Given the description of an element on the screen output the (x, y) to click on. 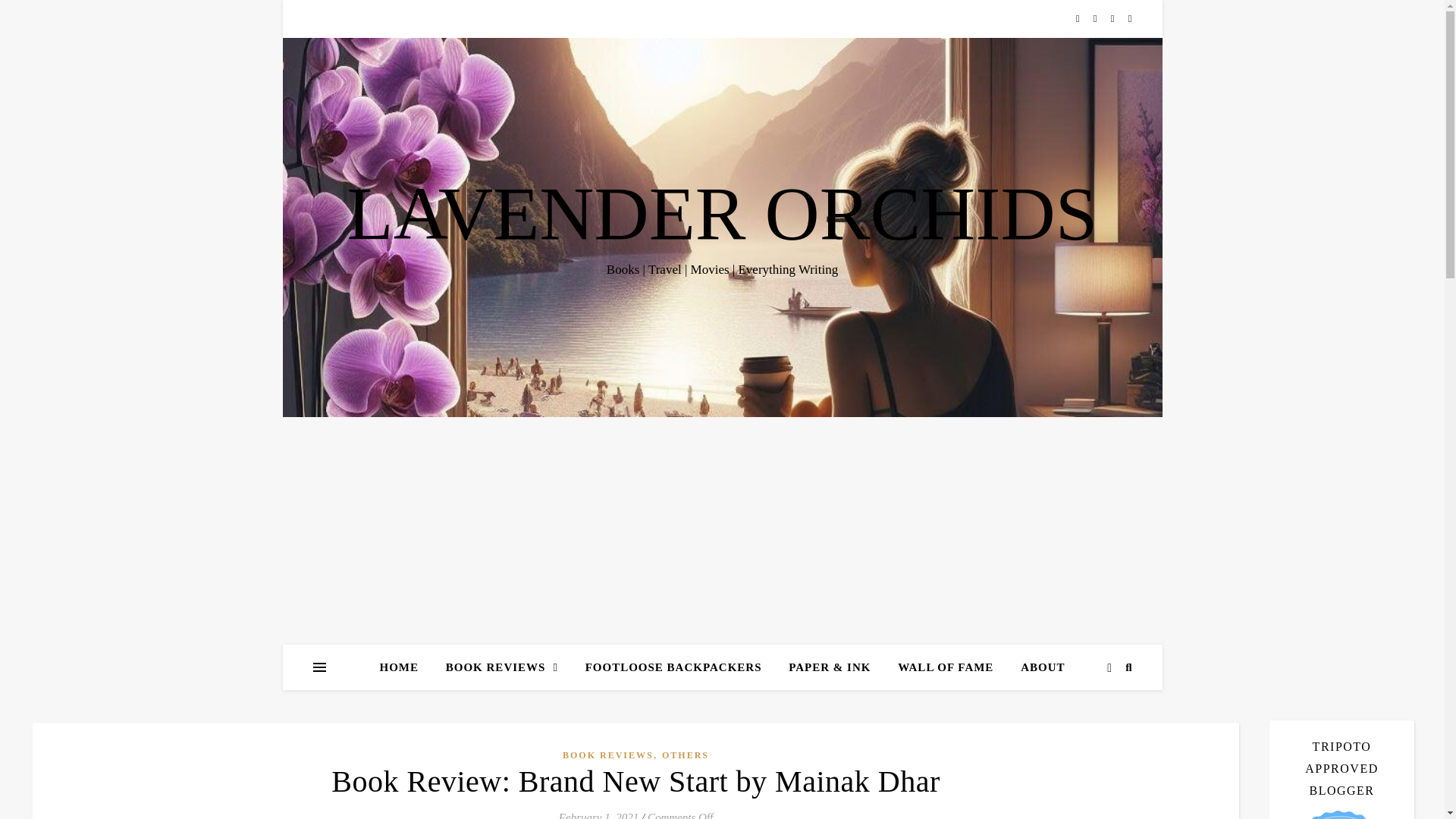
WALL OF FAME (945, 667)
HOME (405, 667)
FOOTLOOSE BACKPACKERS (673, 667)
BOOK REVIEWS (501, 667)
LAVENDER ORCHIDS (721, 213)
ABOUT (1036, 667)
